Given the description of an element on the screen output the (x, y) to click on. 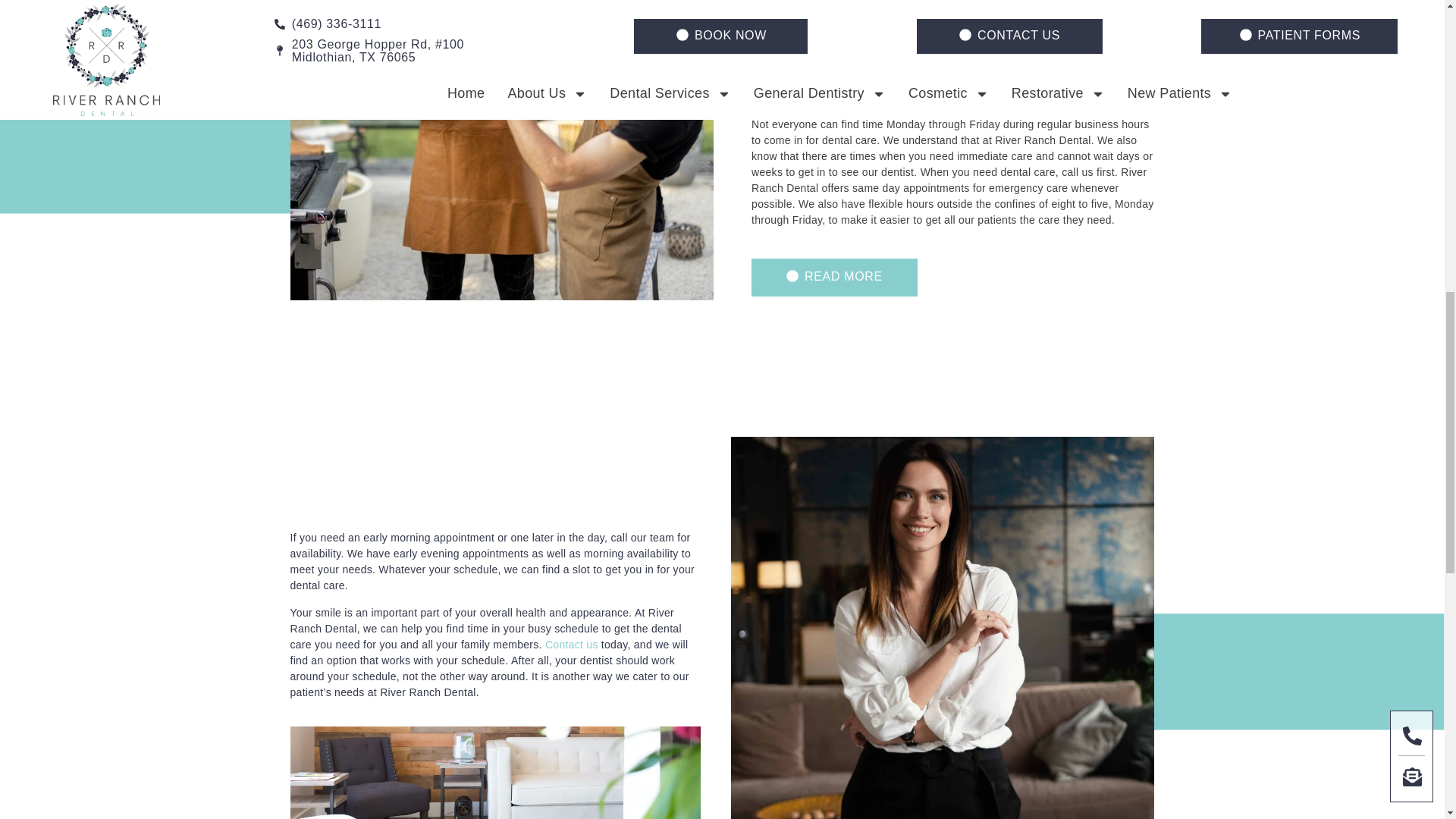
Midlothian TX Best Dental Office (812, 33)
